Given the description of an element on the screen output the (x, y) to click on. 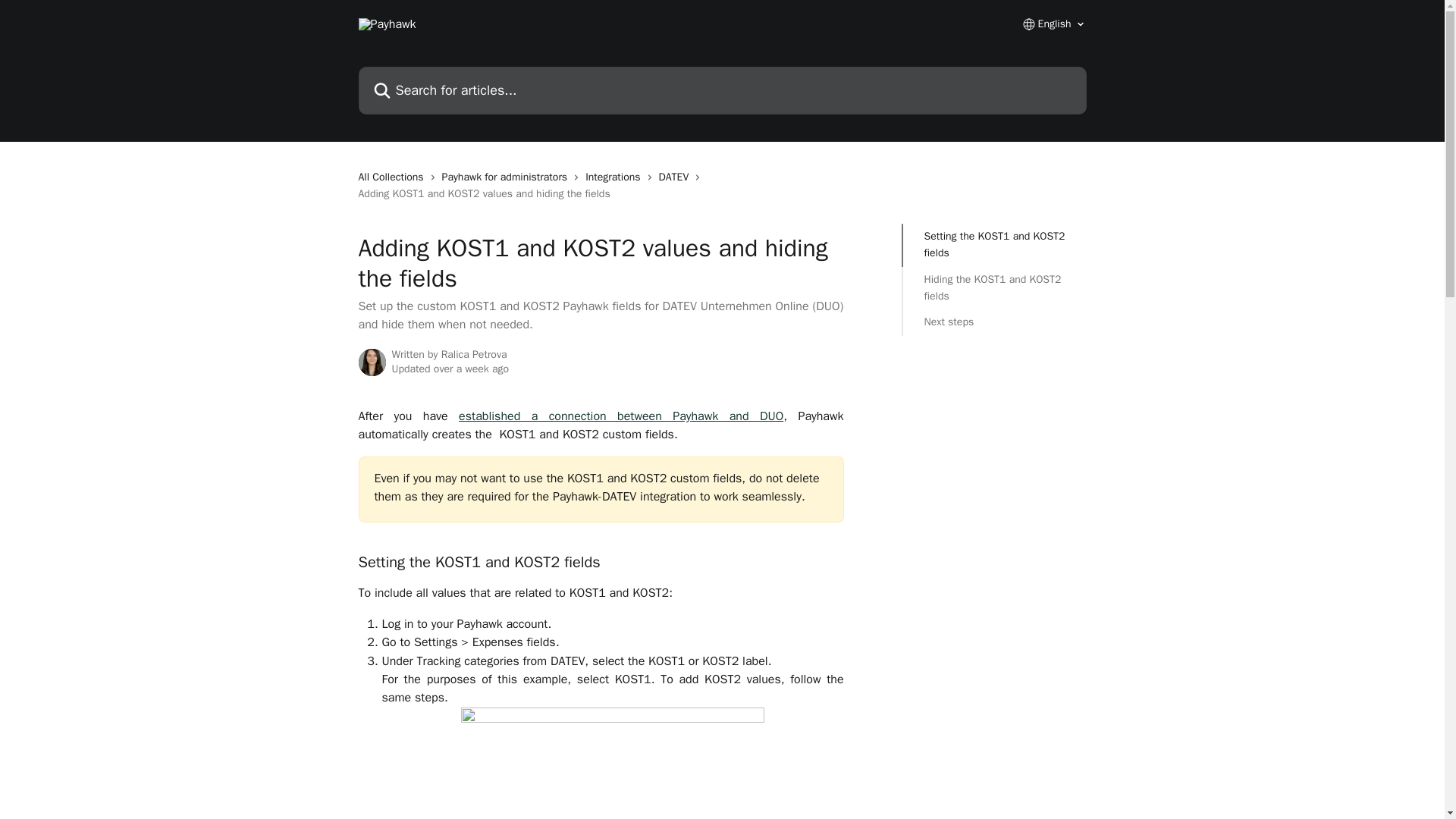
DATEV (677, 176)
Next steps (993, 321)
Hiding the KOST1 and KOST2 fields (993, 288)
established a connection between Payhawk and DUO (620, 416)
Integrations (615, 176)
Setting the KOST1 and KOST2 fields  (993, 245)
All Collections (393, 176)
Payhawk for administrators (507, 176)
